Given the description of an element on the screen output the (x, y) to click on. 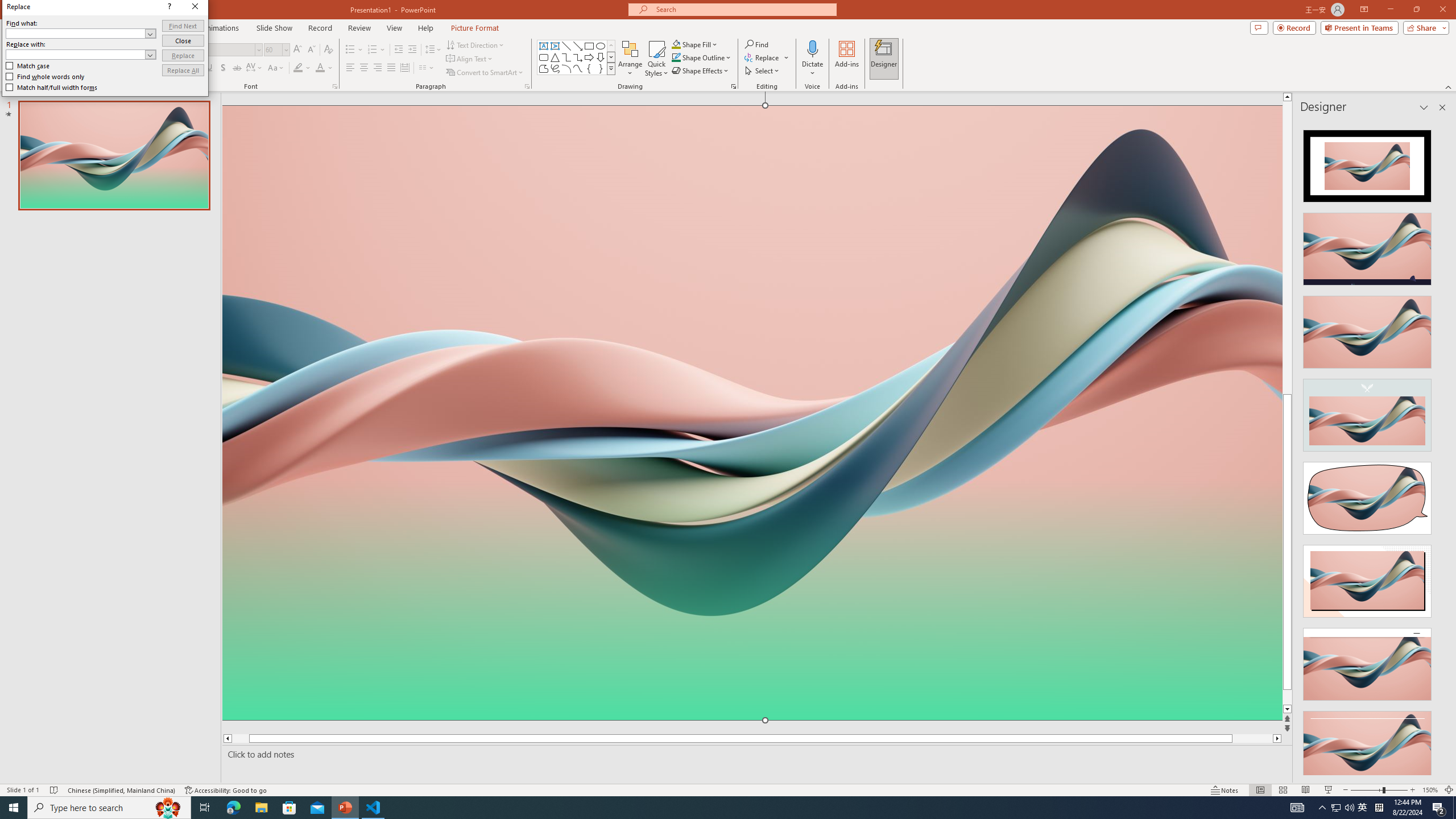
Font Color Red (320, 67)
Left Brace (589, 68)
Match half/full width forms (725, 361)
Freeform: Scribble (554, 68)
